Given the description of an element on the screen output the (x, y) to click on. 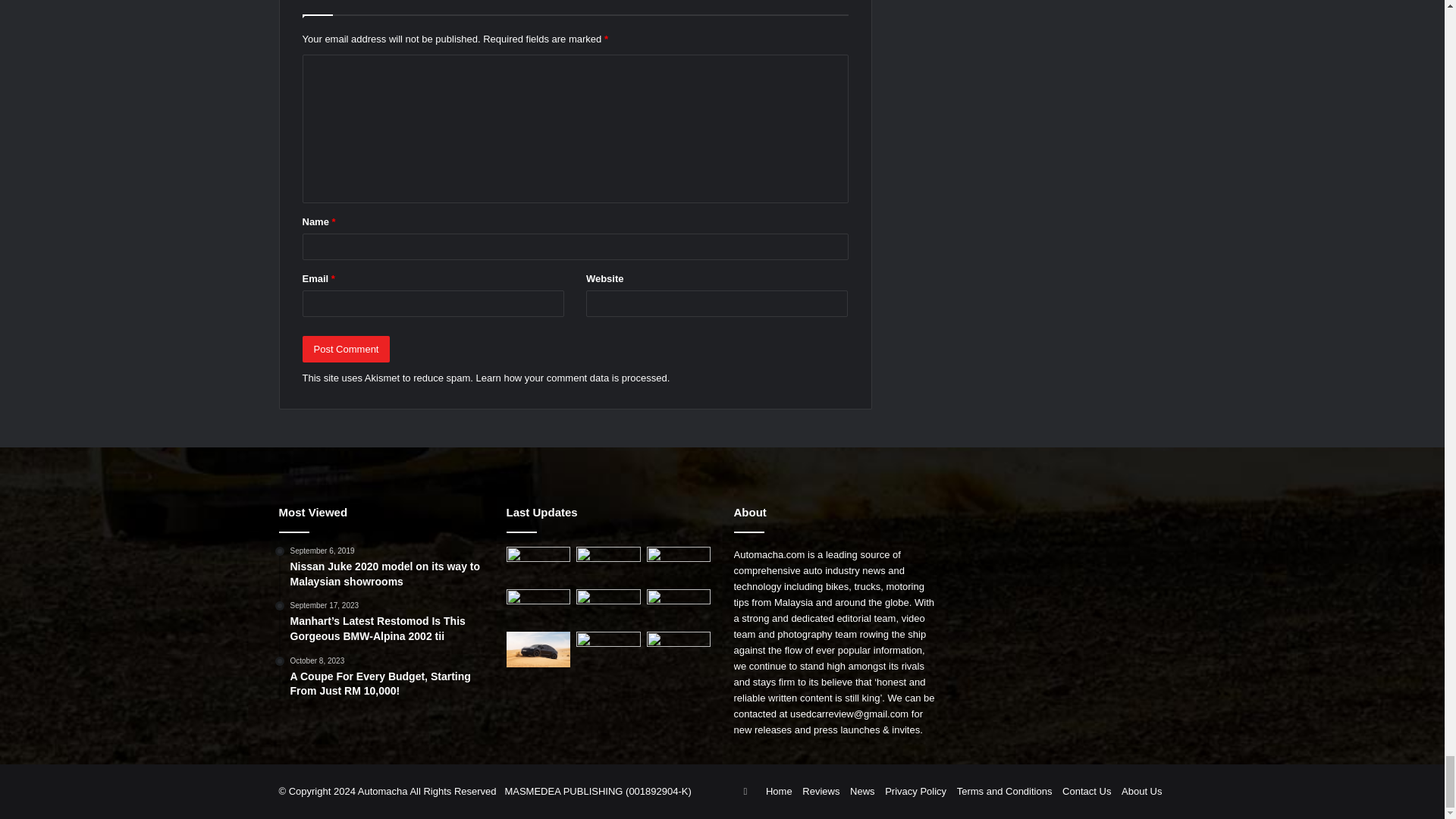
Post Comment (345, 348)
